Given the description of an element on the screen output the (x, y) to click on. 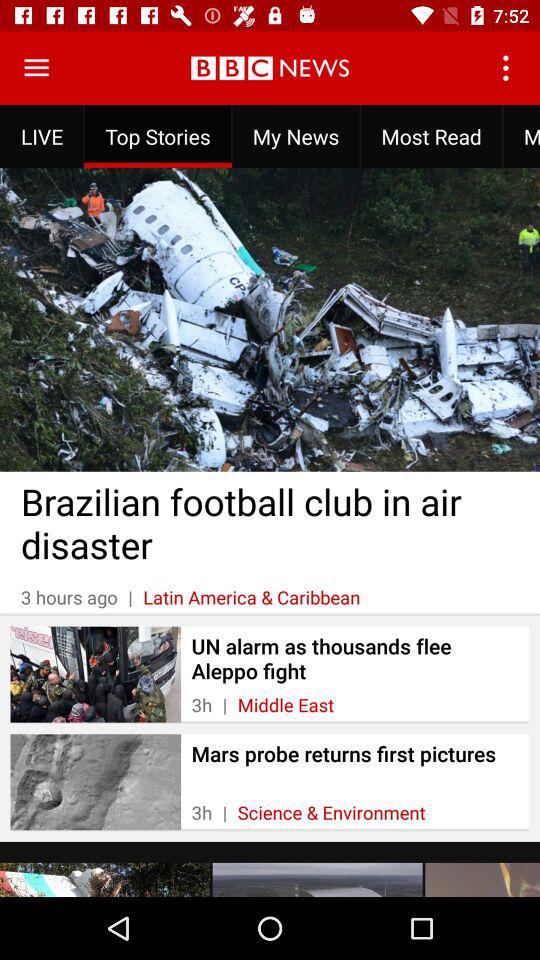
display menu options (36, 68)
